Given the description of an element on the screen output the (x, y) to click on. 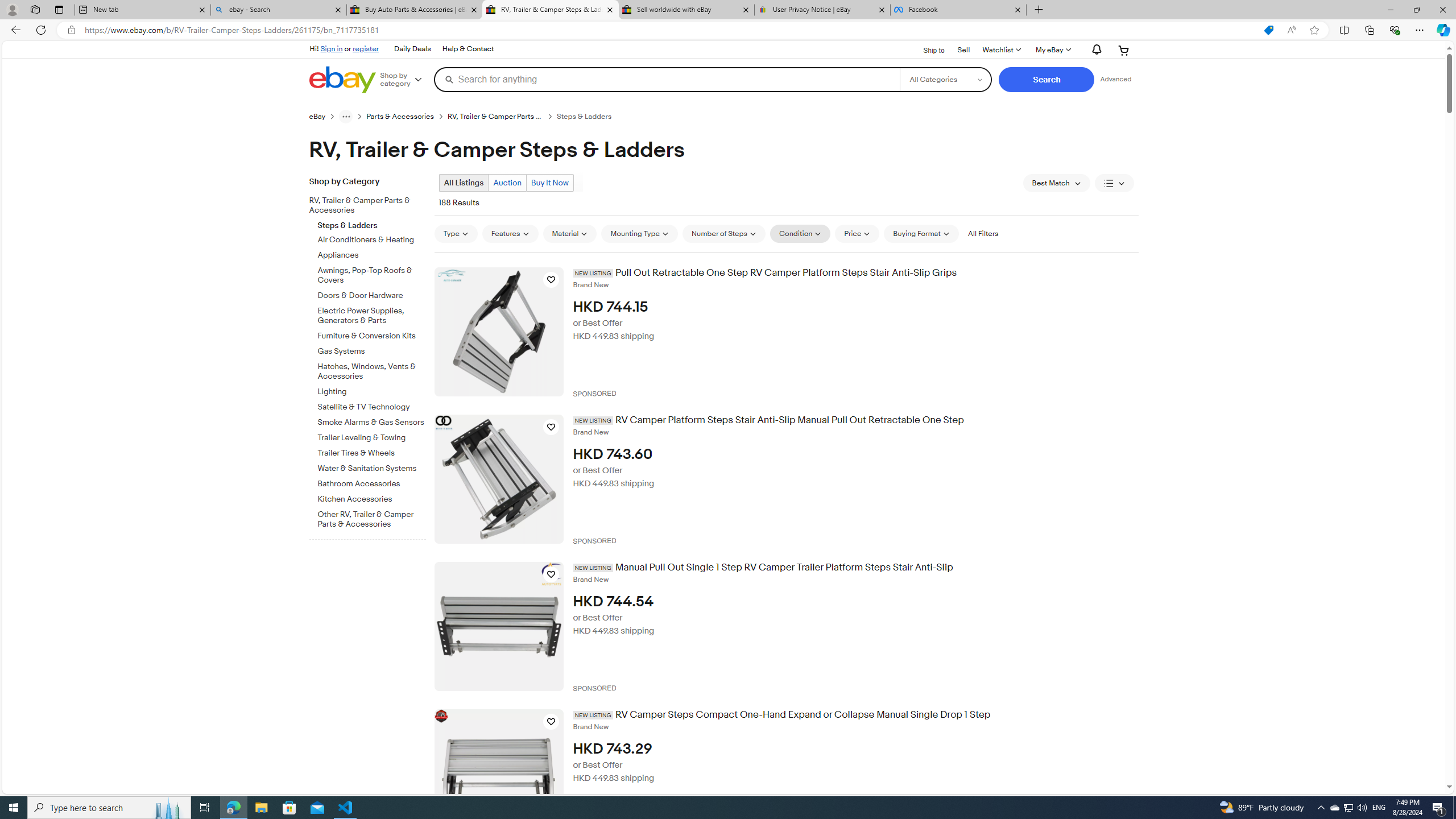
Electric Power Supplies, Generators & Parts (371, 316)
Help & Contact (467, 49)
Steps & Ladders (371, 223)
Advanced Search (1115, 78)
Air Conditioners & Heating (371, 240)
Awnings, Pop-Top Roofs & Covers (371, 273)
Expand Cart (1123, 49)
Smoke Alarms & Gas Sensors (371, 420)
Sell worldwide with eBay (685, 9)
Kitchen Accessories (371, 497)
All Filters (982, 233)
Furniture & Conversion Kits (371, 335)
eBay Home (341, 79)
